Given the description of an element on the screen output the (x, y) to click on. 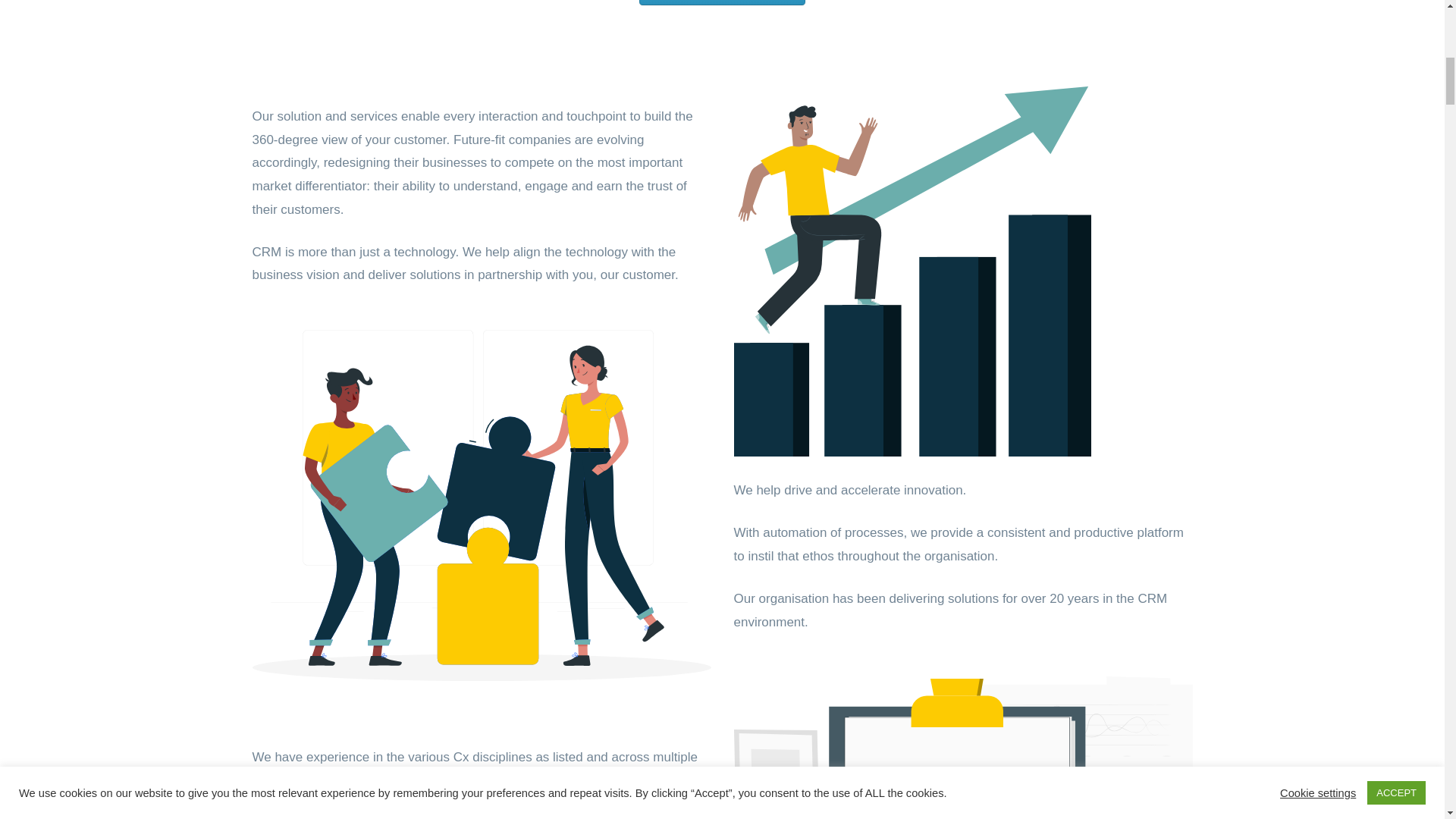
img-advantages (911, 271)
Download Brochure (722, 2)
